Given the description of an element on the screen output the (x, y) to click on. 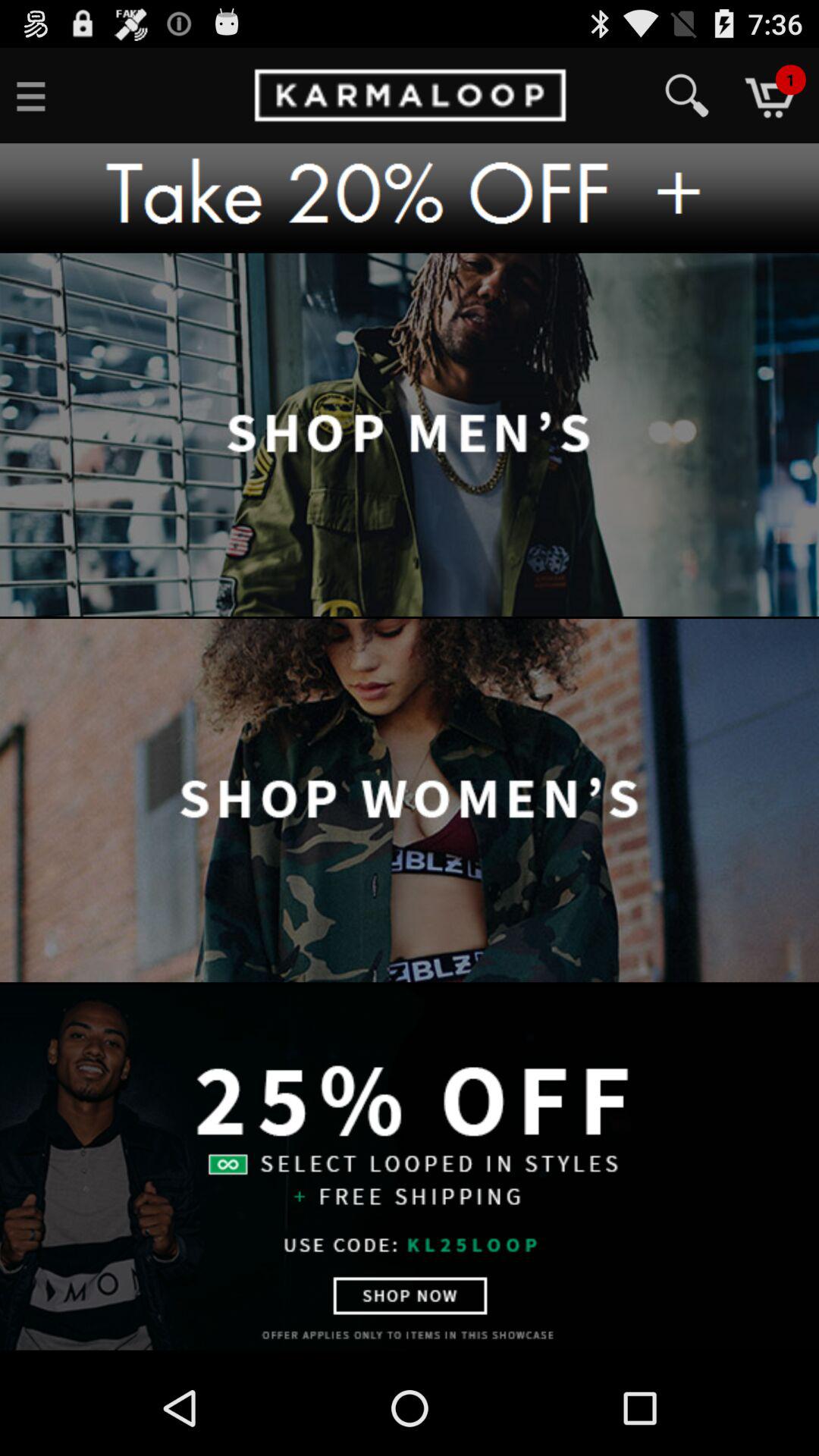
25 off use code kl25loop (409, 1167)
